Given the description of an element on the screen output the (x, y) to click on. 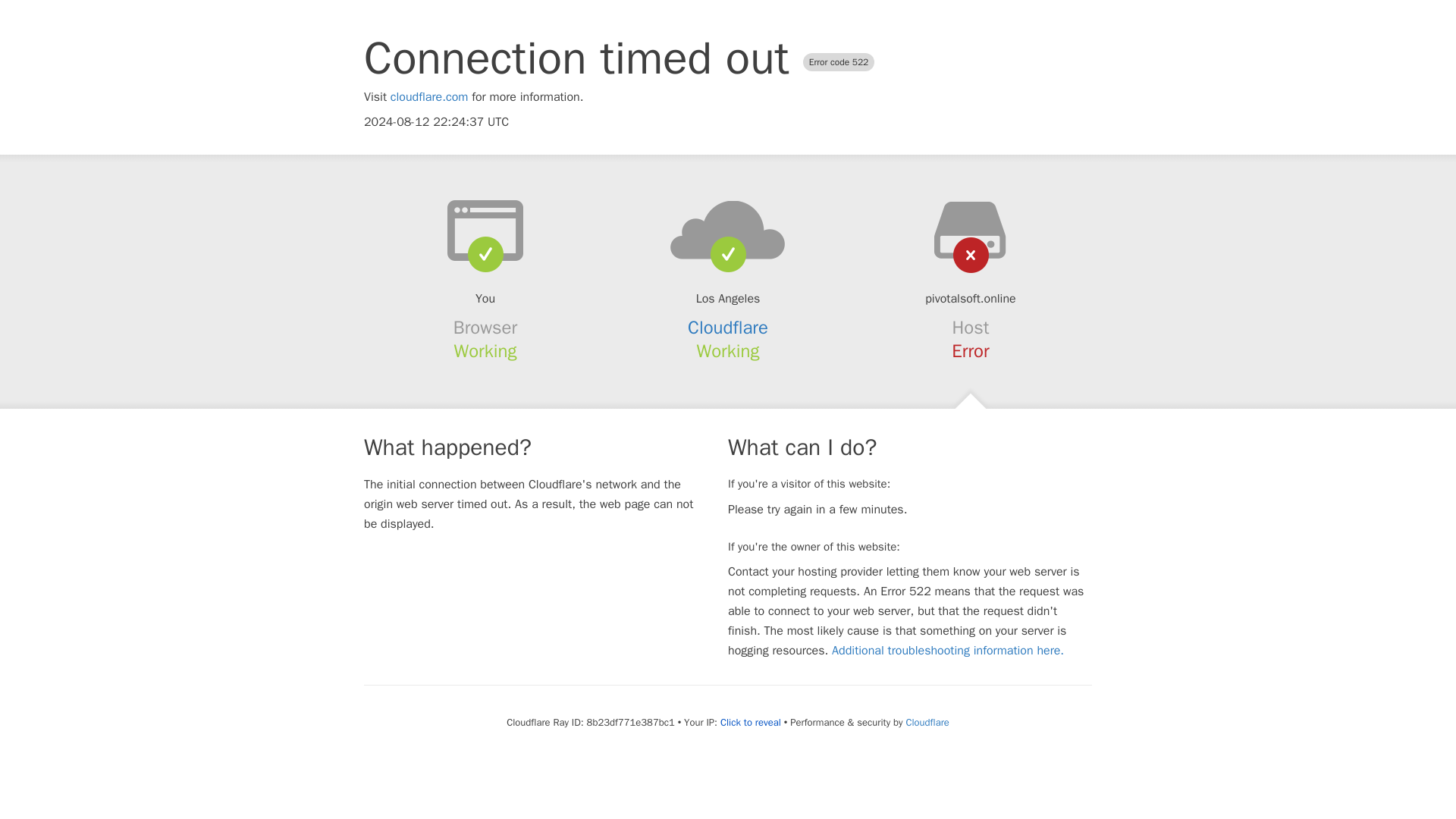
Cloudflare (927, 721)
Additional troubleshooting information here. (947, 650)
cloudflare.com (429, 96)
Cloudflare (727, 327)
Click to reveal (750, 722)
